Given the description of an element on the screen output the (x, y) to click on. 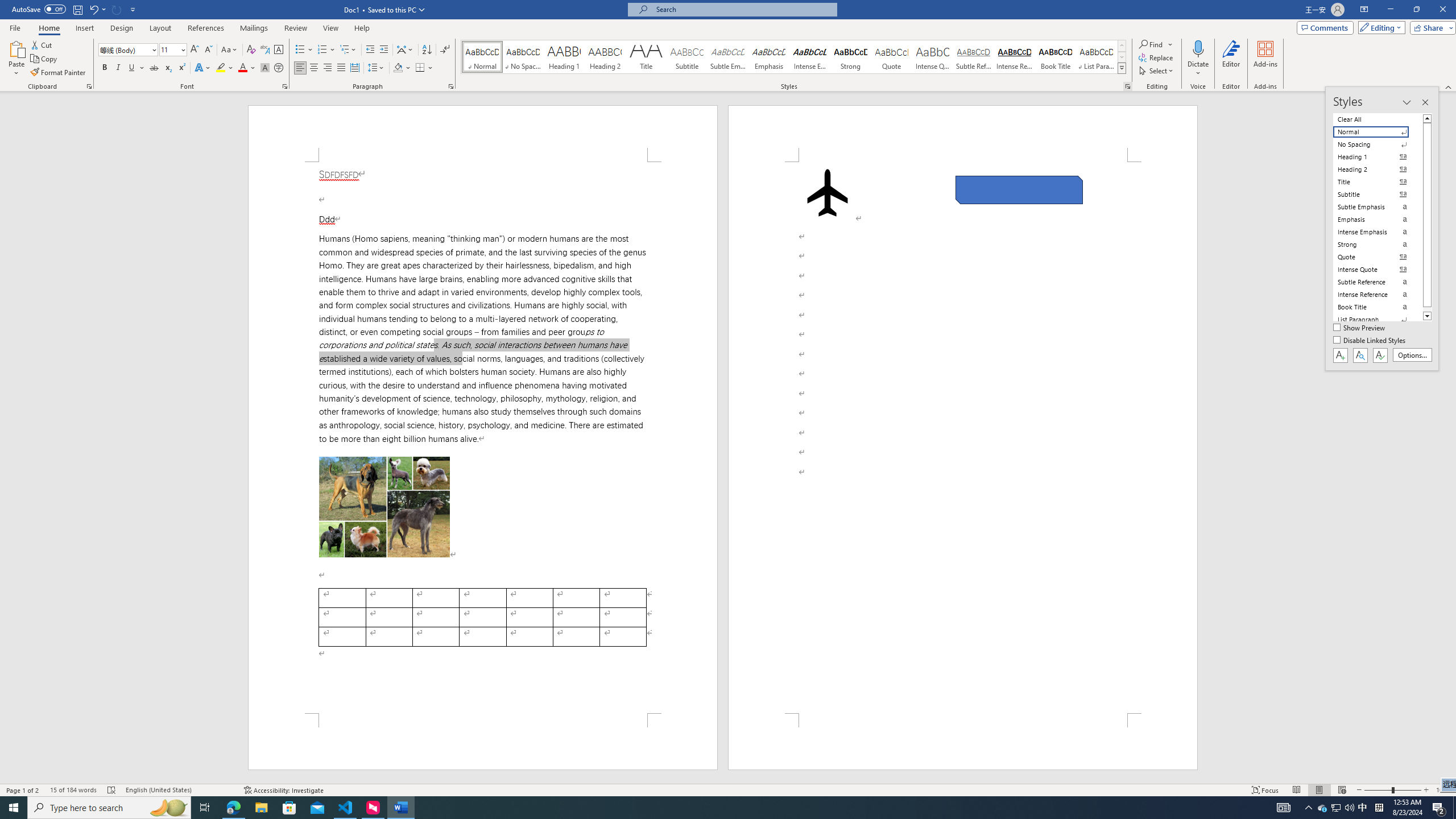
Styles... (1127, 85)
Strikethrough (154, 67)
Options... (1412, 354)
Help (361, 28)
Align Right (327, 67)
Word Count 15 of 184 words (73, 790)
Home (48, 28)
Dictate (1197, 58)
Clear All (1377, 119)
Comments (1325, 27)
Bullets (300, 49)
Sort... (426, 49)
Airplane with solid fill (827, 192)
File Tab (15, 27)
